Given the description of an element on the screen output the (x, y) to click on. 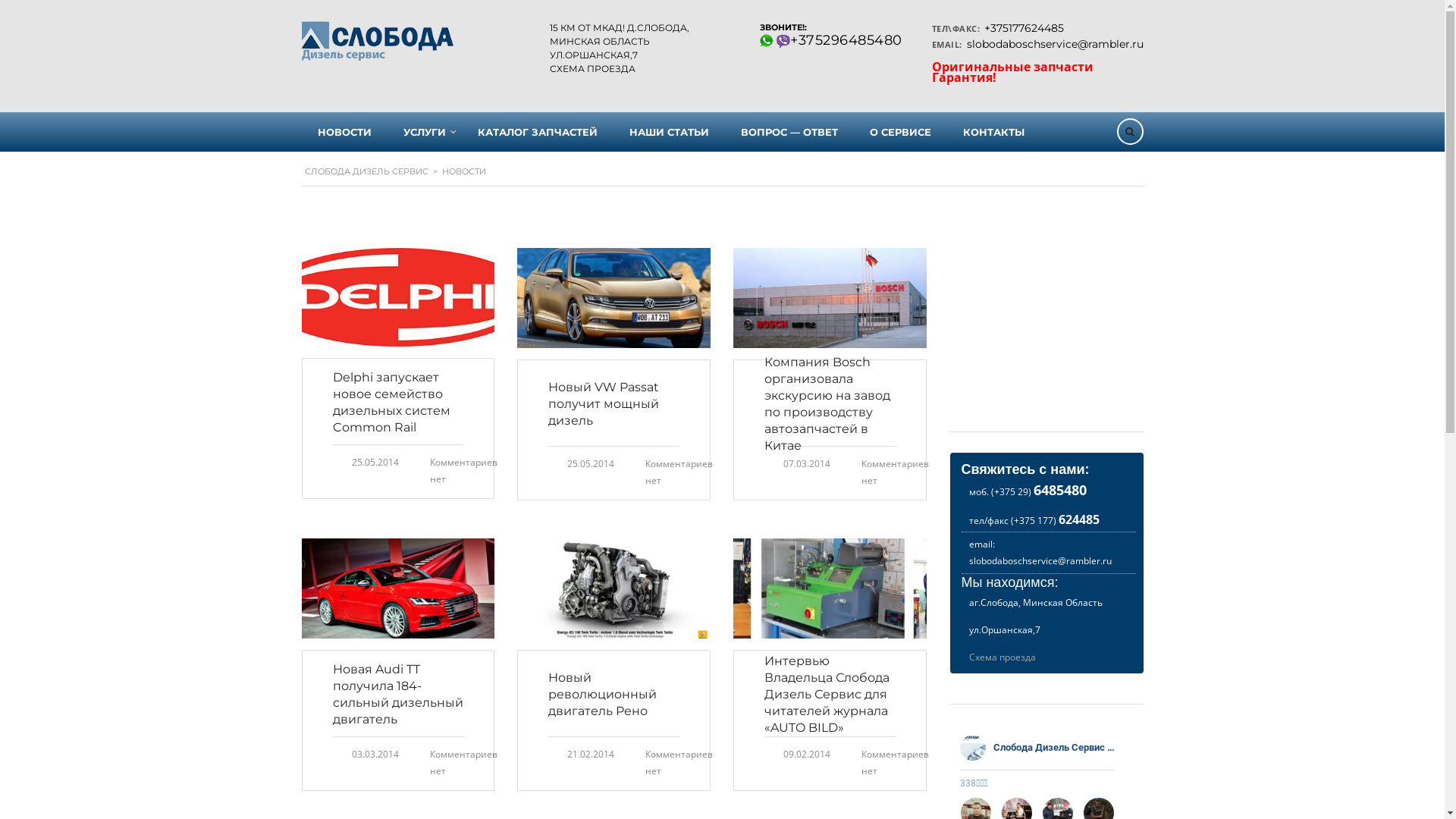
slobodaboschservice@rambler.ru Element type: text (1040, 560)
+375296485480 Element type: text (846, 39)
(+375 177) 624485 Element type: text (1054, 520)
+375177624485 Element type: text (1023, 27)
(+375 29) 6485480 Element type: text (1037, 491)
Home Element type: hover (377, 40)
slobodaboschservice@rambler.ru Element type: text (1054, 43)
